Given the description of an element on the screen output the (x, y) to click on. 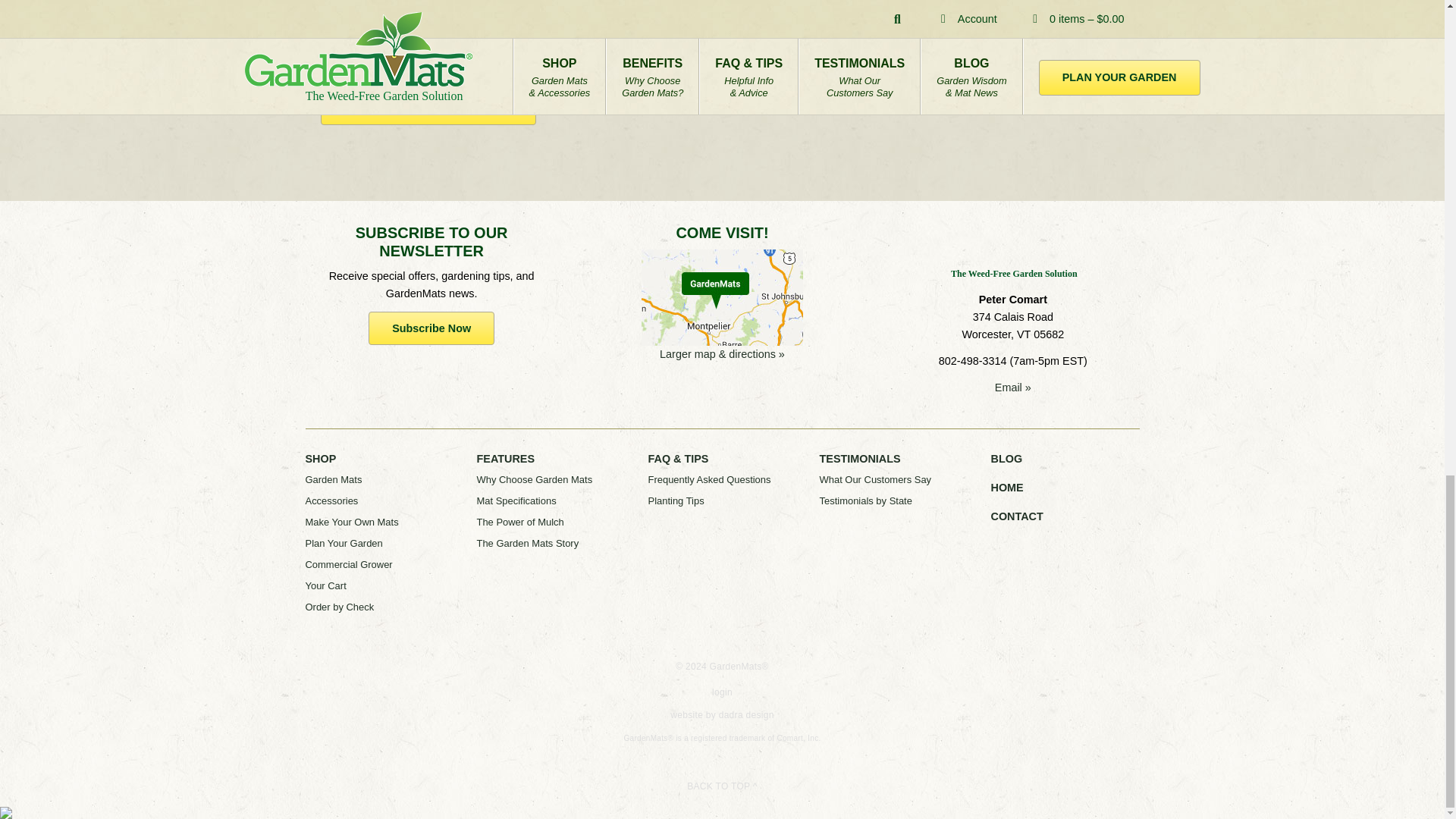
Subscribe Now (431, 328)
Start Your Weed-Free Garden (427, 107)
SHOP (320, 458)
Home garden (391, 23)
Commercial growing (410, 46)
The Weed-Free Garden Solution (1012, 252)
